Given the description of an element on the screen output the (x, y) to click on. 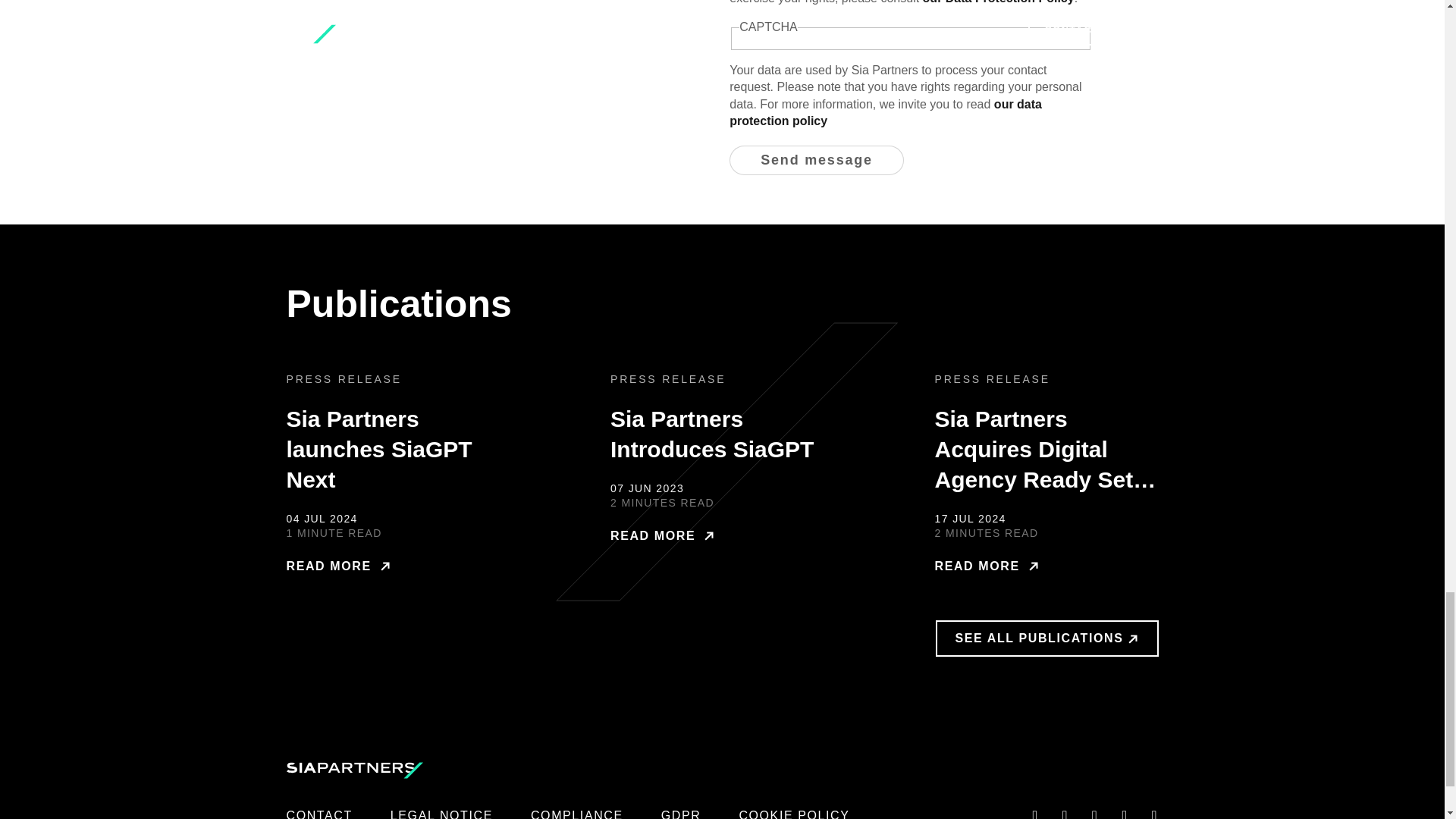
See all publications (1047, 637)
Send message (816, 160)
Sia Partners (354, 770)
